Given the description of an element on the screen output the (x, y) to click on. 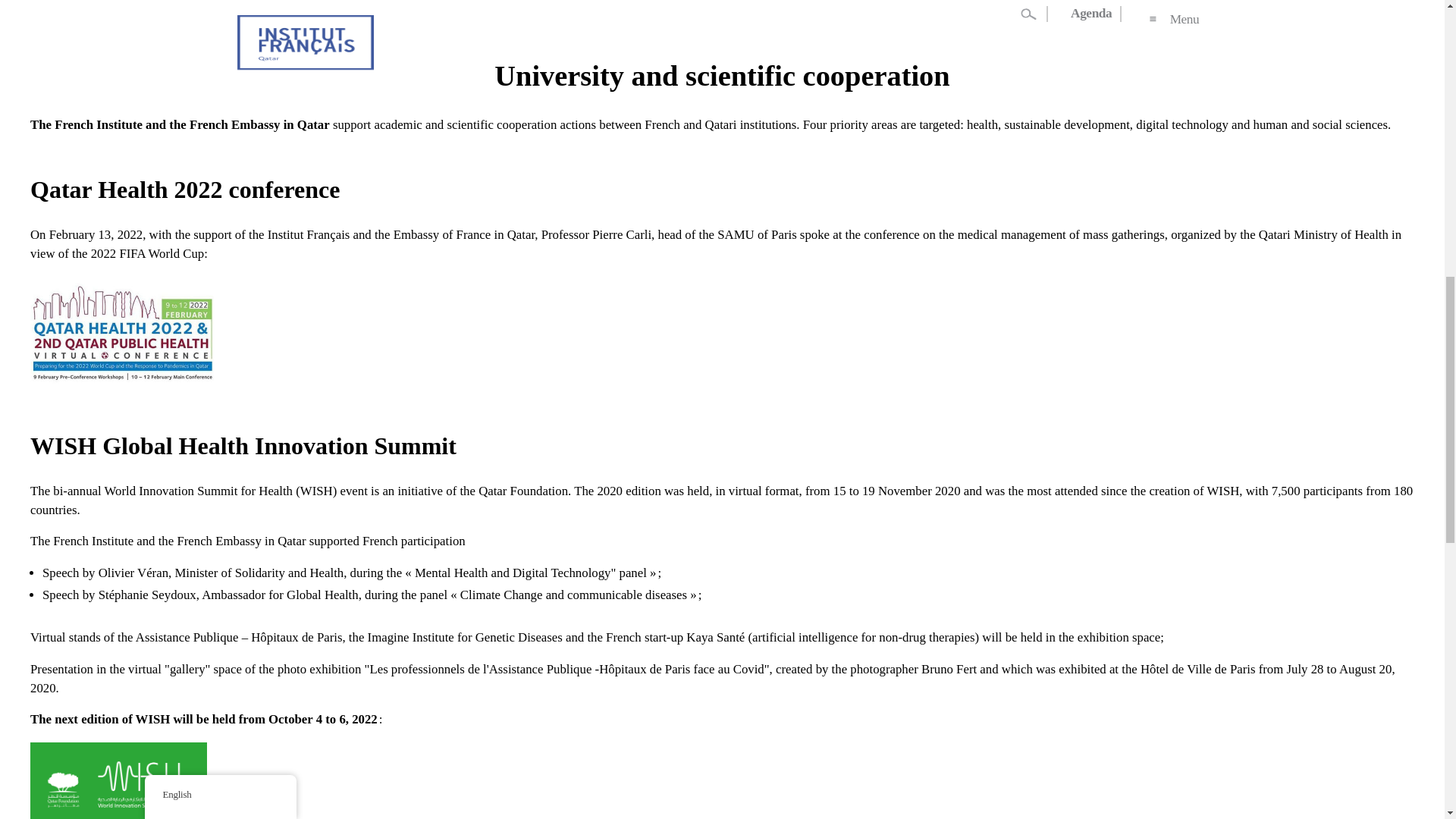
Cooperation (119, 2)
University and scientific cooperation (256, 2)
